Given the description of an element on the screen output the (x, y) to click on. 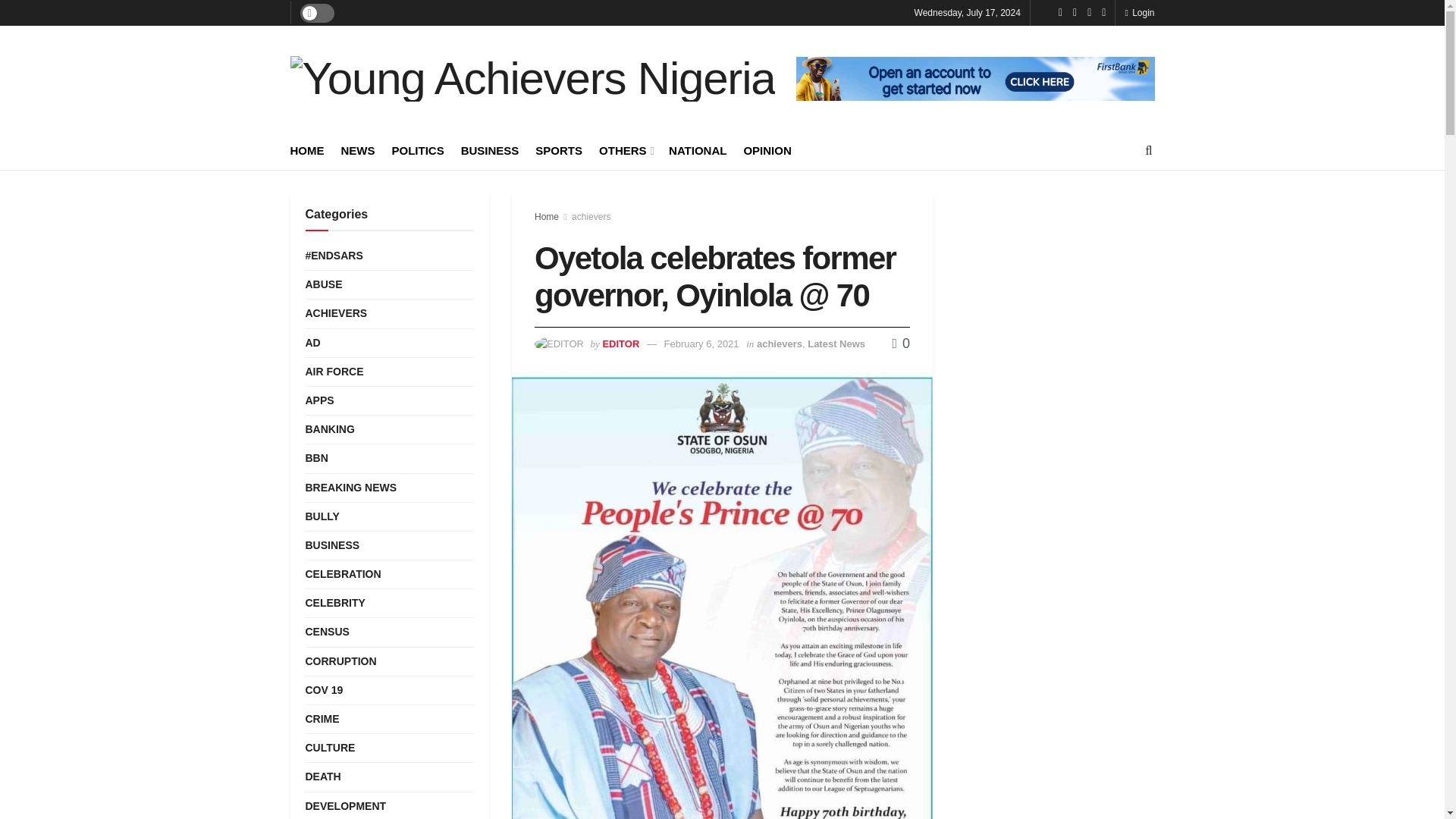
Home (546, 216)
February 6, 2021 (701, 343)
POLITICS (417, 150)
EDITOR (620, 343)
BUSINESS (490, 150)
HOME (306, 150)
SPORTS (558, 150)
achievers (591, 216)
OTHERS (625, 150)
NEWS (357, 150)
NATIONAL (697, 150)
Login (1139, 12)
OPINION (766, 150)
